Given the description of an element on the screen output the (x, y) to click on. 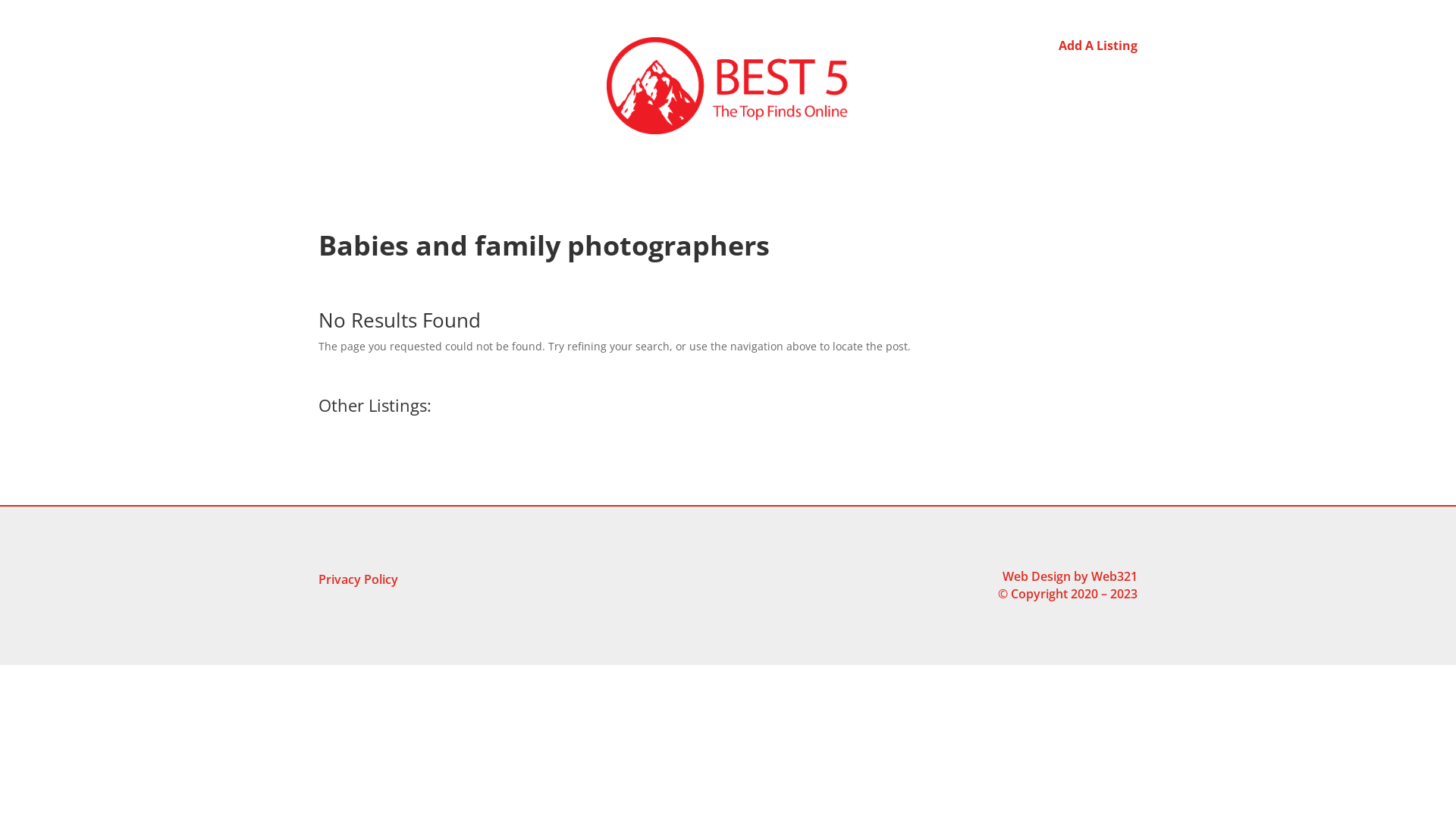
Privacy Policy Element type: text (358, 582)
Web321 Element type: text (1114, 575)
Web Design Element type: text (1036, 575)
best5logo Element type: hover (727, 85)
Add A Listing Element type: text (1097, 45)
